Given the description of an element on the screen output the (x, y) to click on. 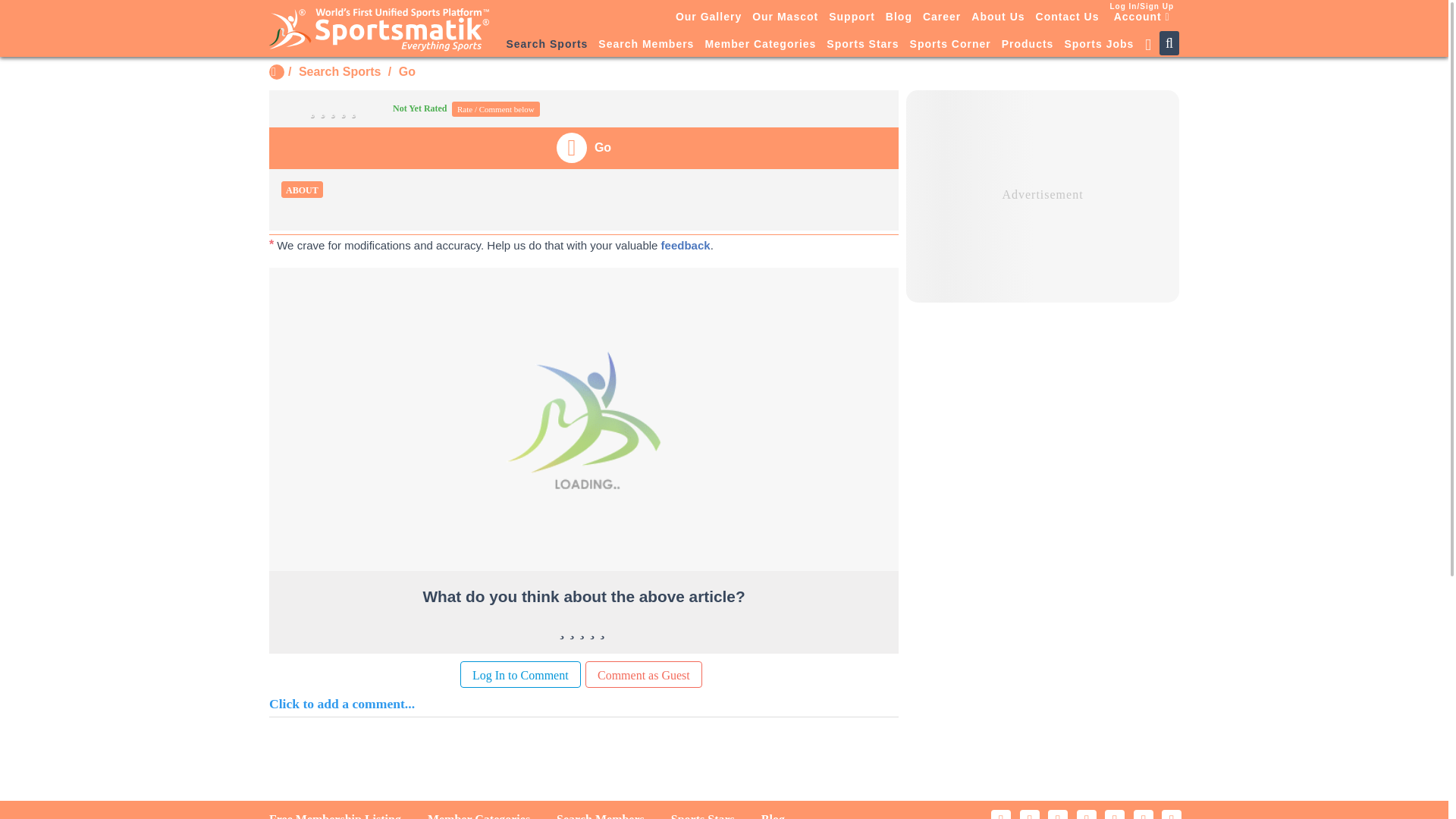
Not Yet Rated (366, 108)
Sports Stars (862, 44)
Search Sports (546, 44)
Search Members (645, 44)
Blog (898, 15)
Search Sports (339, 71)
Contact Us (1067, 15)
Our Gallery (707, 15)
About Us (997, 15)
Support (852, 15)
Comment as Guest (643, 673)
Sports Jobs (1098, 44)
Career (941, 15)
Our Mascot (785, 15)
Log In to comment (520, 673)
